Given the description of an element on the screen output the (x, y) to click on. 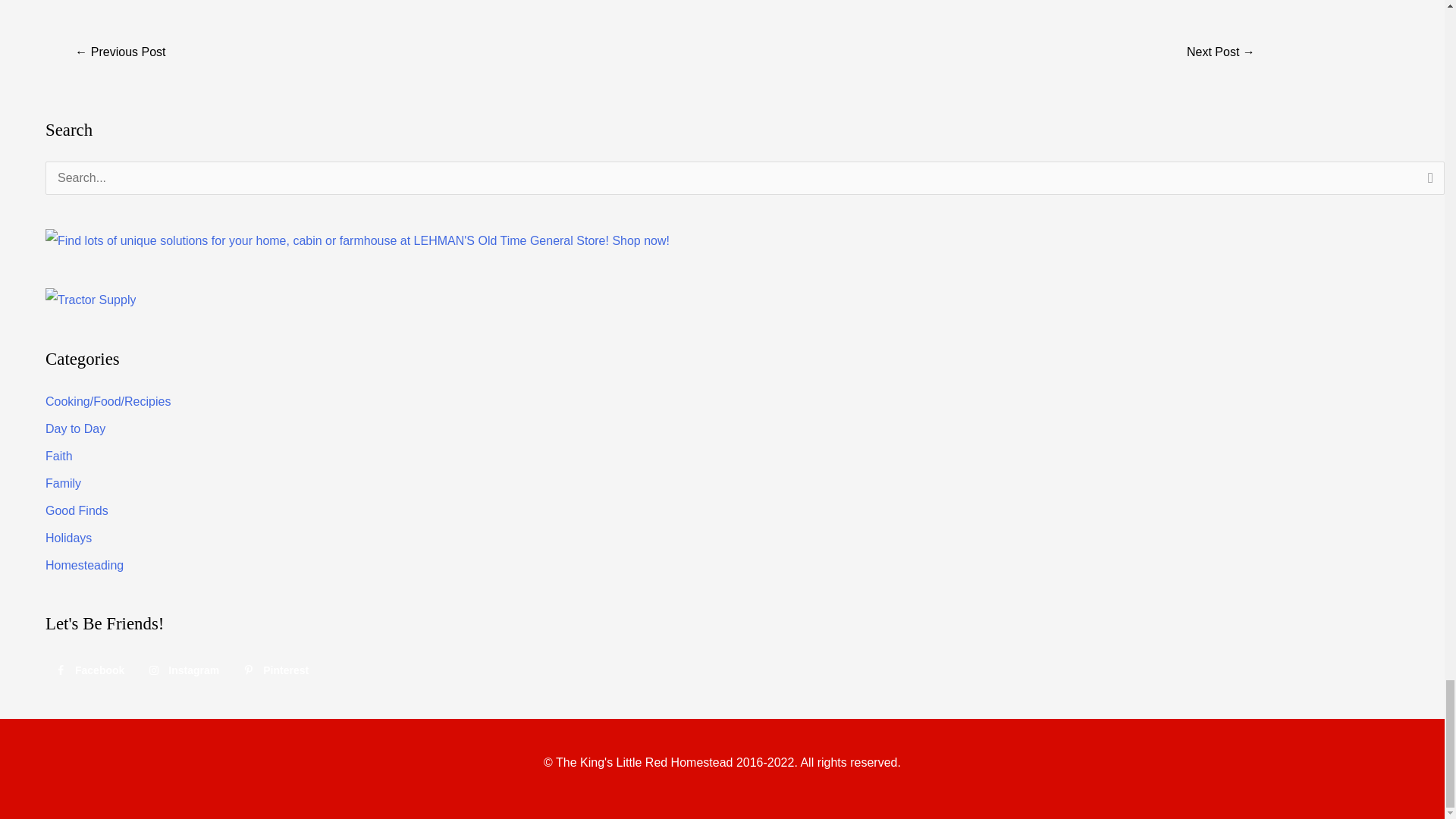
Mom was Right...Again! (119, 53)
Follow on Instagram (185, 670)
Tractor Supply (90, 300)
Follow on Pinterest (277, 670)
Follow on Facebook (91, 670)
